Given the description of an element on the screen output the (x, y) to click on. 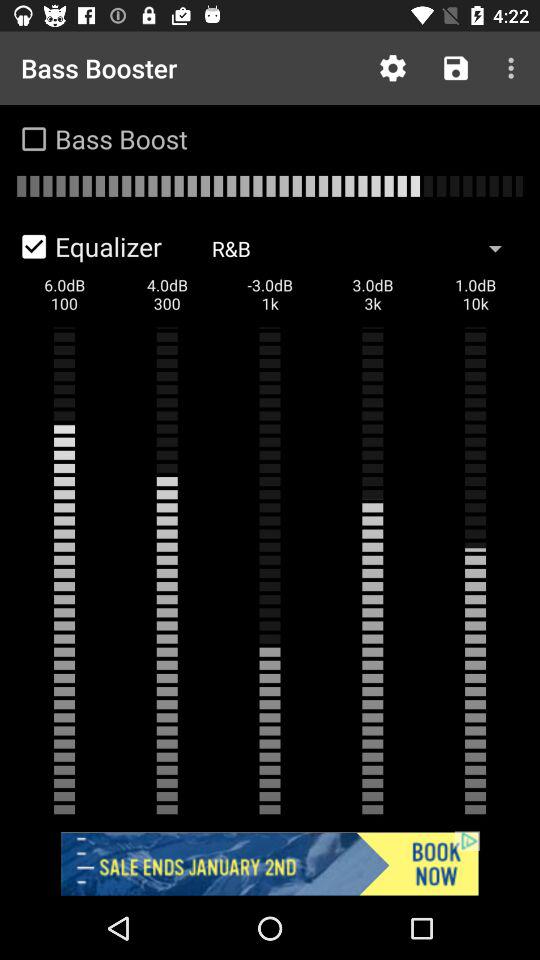
open advertisement (270, 864)
